Given the description of an element on the screen output the (x, y) to click on. 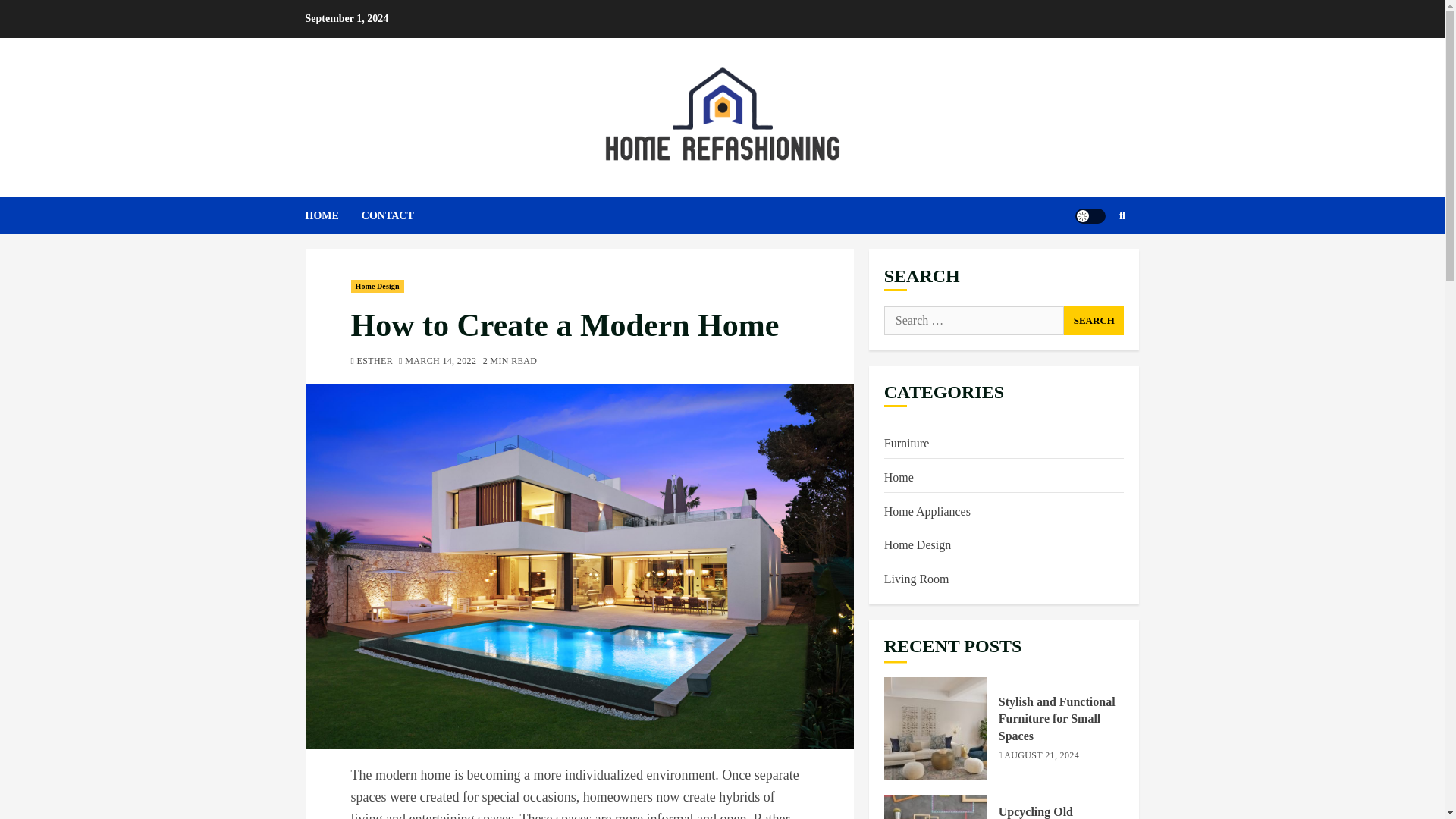
Home (898, 477)
Search (1094, 320)
Living Room (916, 579)
Search (1094, 320)
ESTHER (371, 361)
HOME (332, 215)
Home Design (916, 545)
Stylish and Functional Furniture for Small Spaces (1056, 718)
Home Design (376, 286)
Furniture (906, 444)
